Given the description of an element on the screen output the (x, y) to click on. 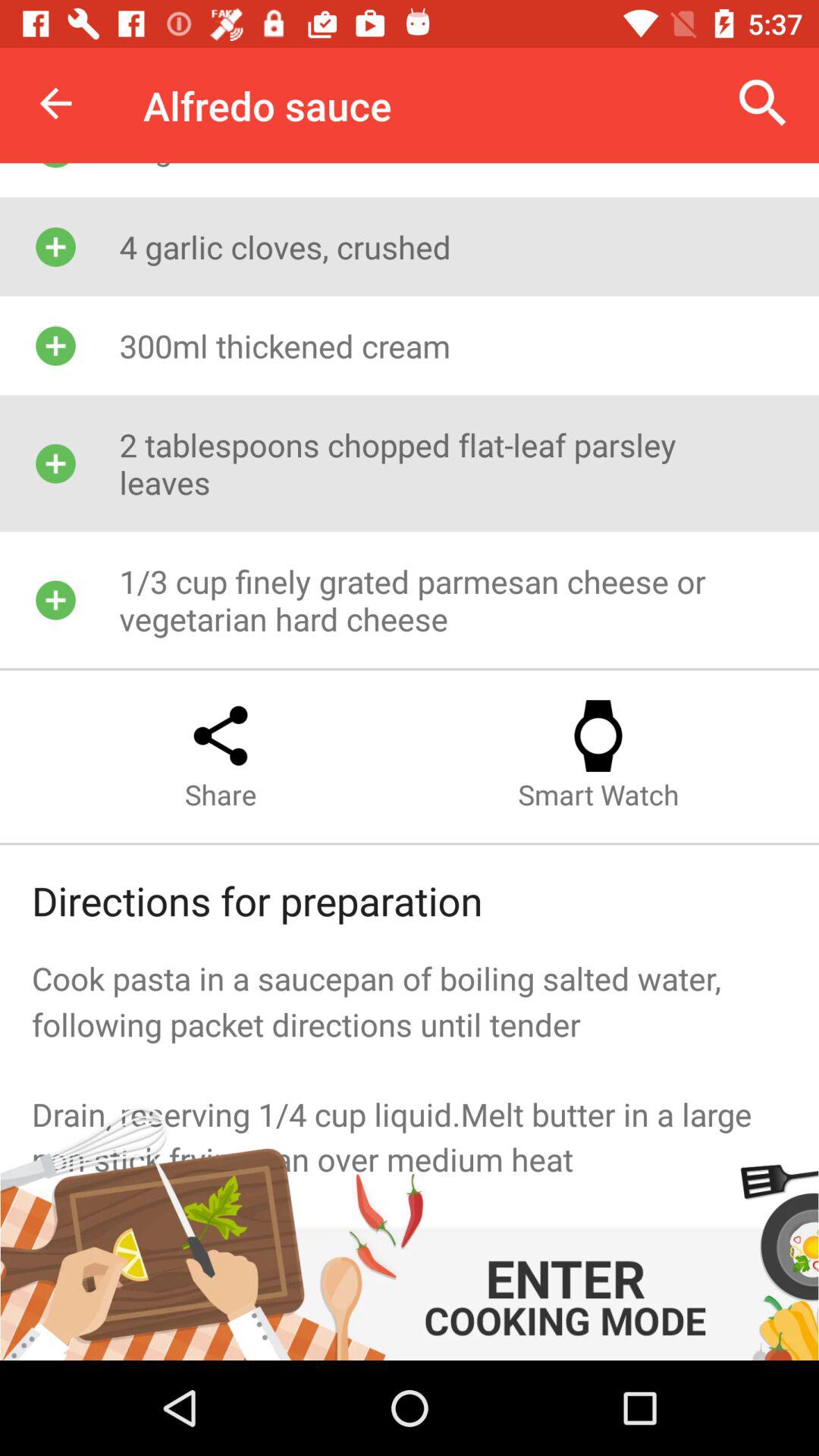
turn off item above 25g butter item (55, 103)
